Given the description of an element on the screen output the (x, y) to click on. 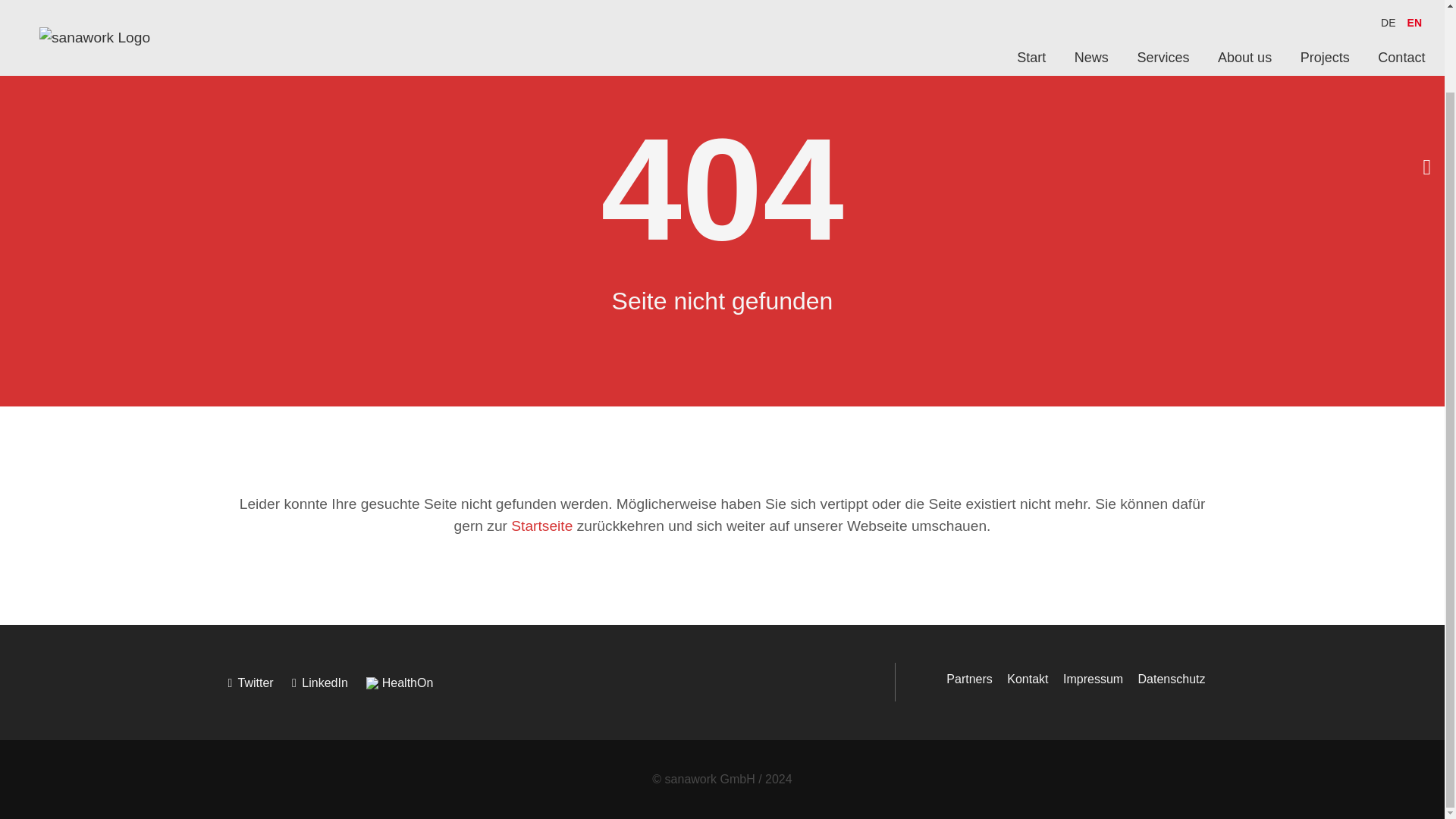
Kontakt (1027, 678)
Datenschutz (1171, 678)
Impressum (1092, 678)
Impressum (1092, 678)
Twitter (257, 682)
sanawork (257, 8)
LinkedIn (327, 682)
Startseite (541, 525)
sanawork (257, 8)
LinkedIn (407, 682)
